Given the description of an element on the screen output the (x, y) to click on. 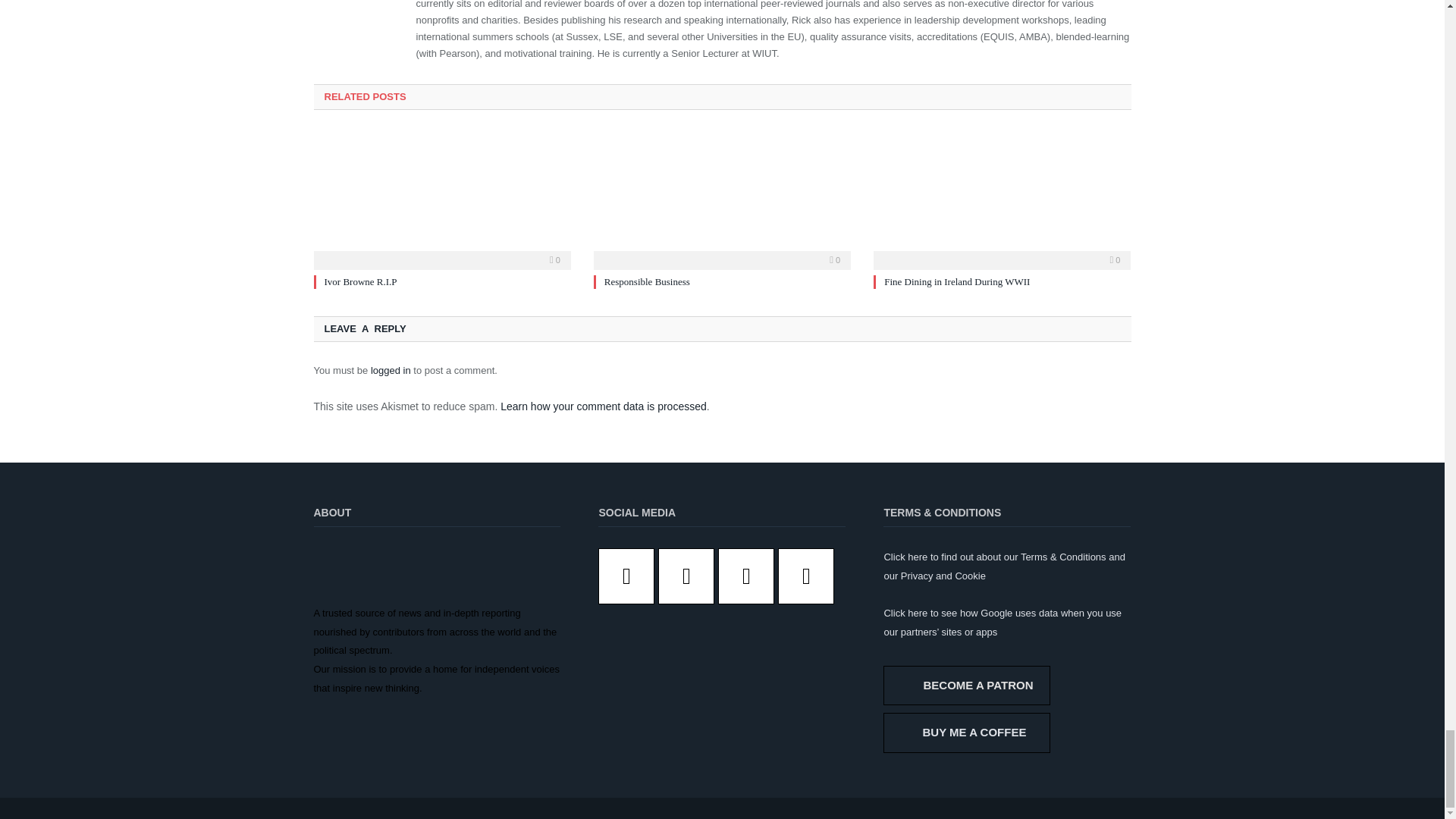
Responsible Business (722, 198)
Ivor Browne R.I.P (360, 281)
Ivor Browne R.I.P (442, 198)
